Given the description of an element on the screen output the (x, y) to click on. 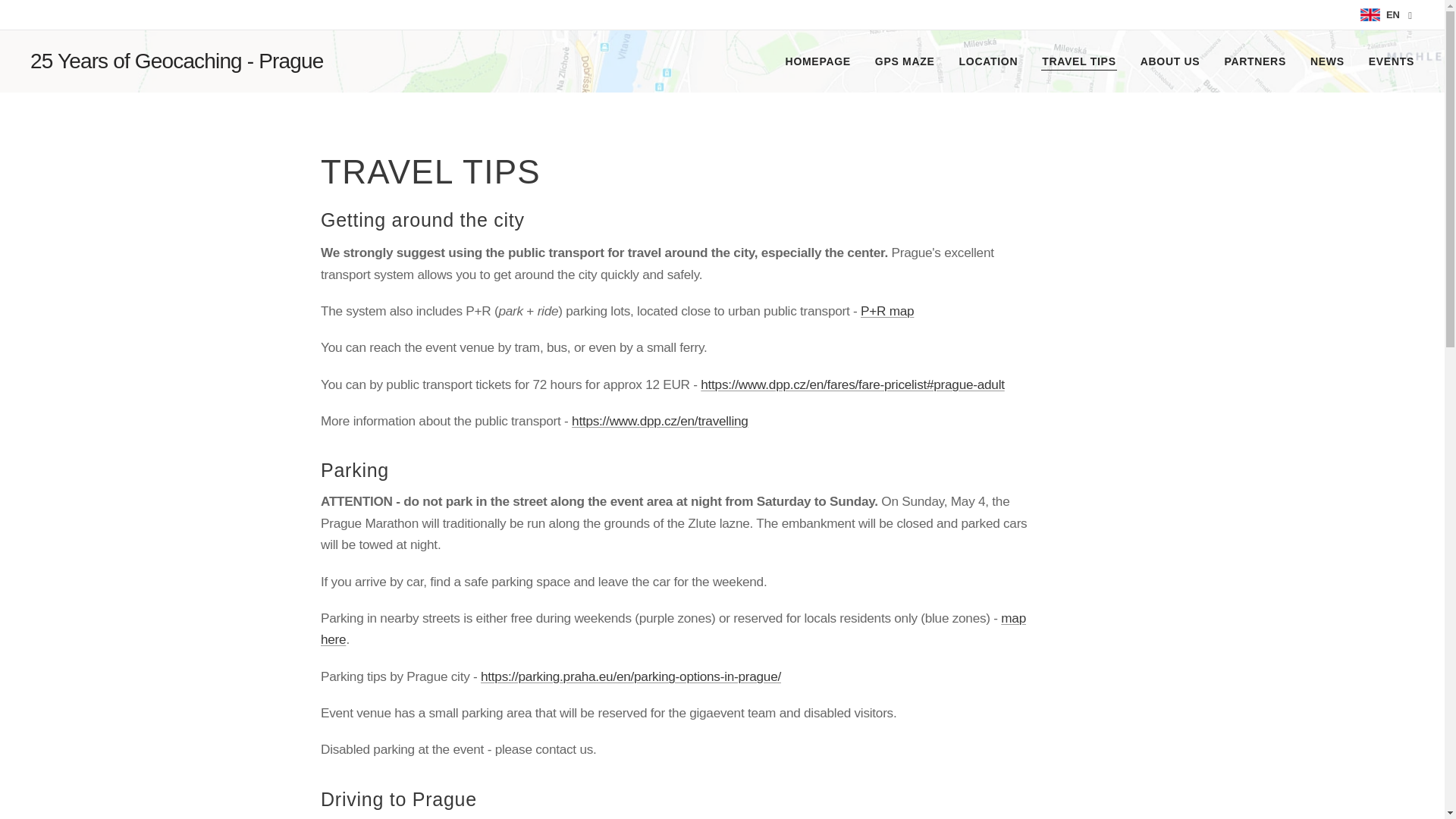
GPS MAZE (905, 61)
map here (672, 628)
25 Years of Geocaching - Prague 2020252020 (189, 60)
NEWS (1327, 61)
LOCATION (988, 61)
TRAVEL TIPS (1077, 61)
HOMEPAGE (822, 61)
ABOUT US (1170, 61)
PARTNERS (1254, 61)
EVENTS (1384, 61)
